Given the description of an element on the screen output the (x, y) to click on. 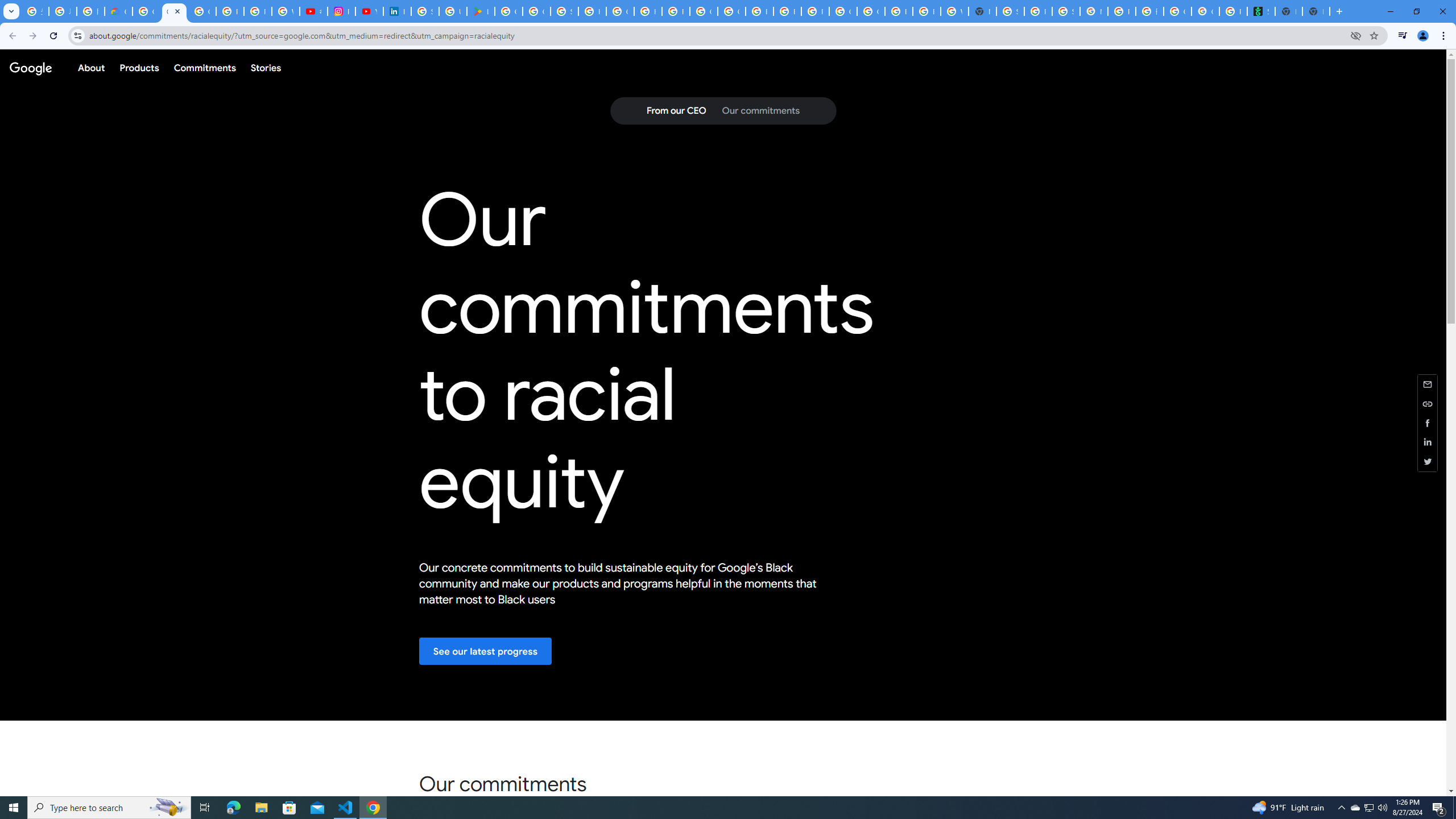
#nbabasketballhighlights - YouTube (313, 11)
Share this page (Twitter) (1427, 461)
Products (138, 67)
Google (30, 67)
Our commitments: Jump to page section (760, 110)
Google Workspace - Specific Terms (536, 11)
Privacy Help Center - Policies Help (257, 11)
Share this page (LinkedIn) (1427, 442)
